Given the description of an element on the screen output the (x, y) to click on. 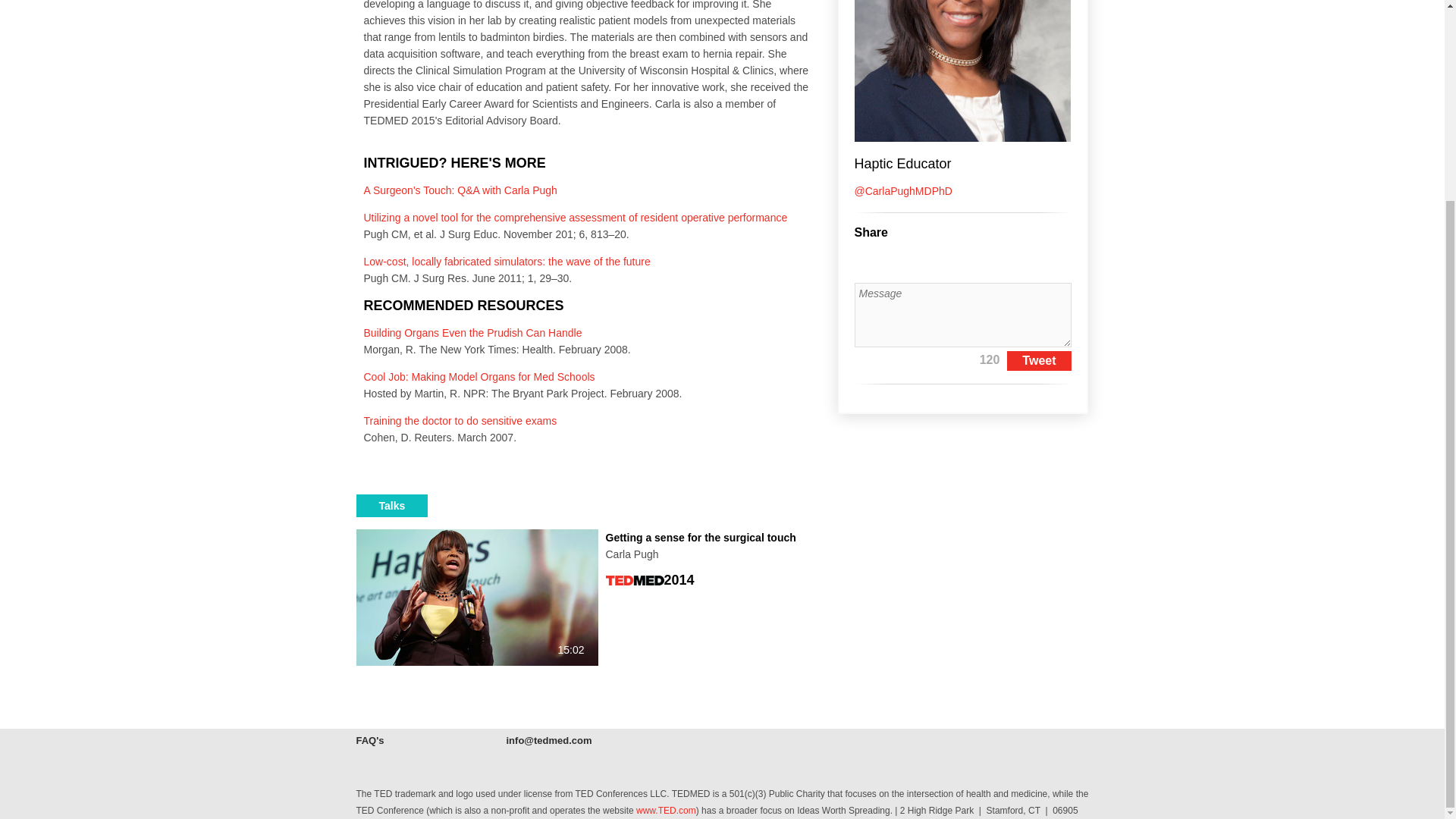
Cool Job: Making Model Organs for Med Schools (479, 377)
www.TED.com (665, 810)
Tweet (1038, 361)
FAQ's (589, 545)
Training the doctor to do sensitive exams (370, 740)
Talks (460, 420)
Tweet (392, 505)
